Given the description of an element on the screen output the (x, y) to click on. 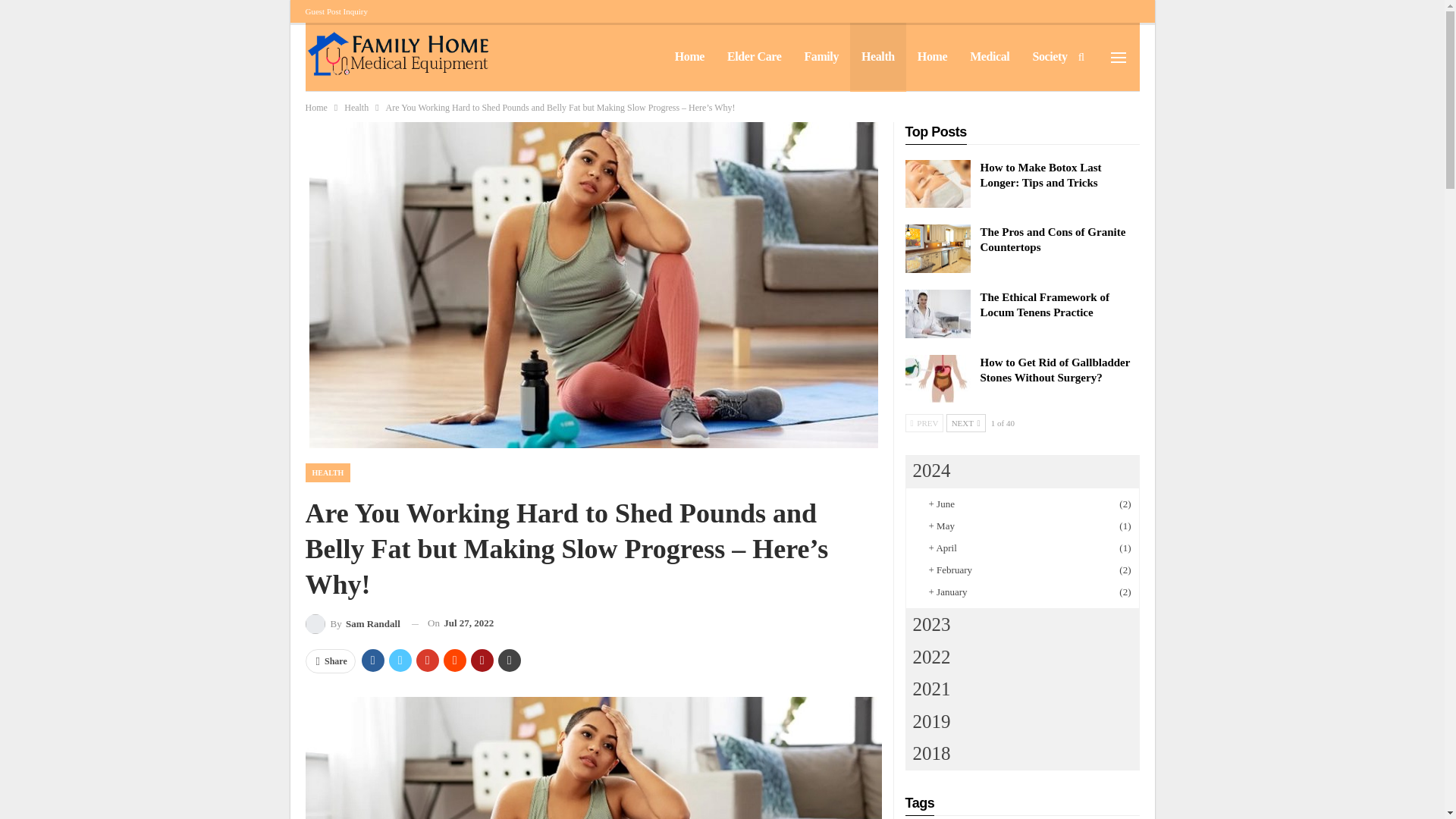
HEALTH (327, 472)
Health (355, 107)
How to Make Botox Last Longer: Tips and Tricks (938, 183)
By Sam Randall (351, 623)
Guest Post Inquiry (336, 10)
Home (315, 107)
Elder Care (754, 56)
Browse Author Articles (351, 623)
Medical (989, 56)
